Given the description of an element on the screen output the (x, y) to click on. 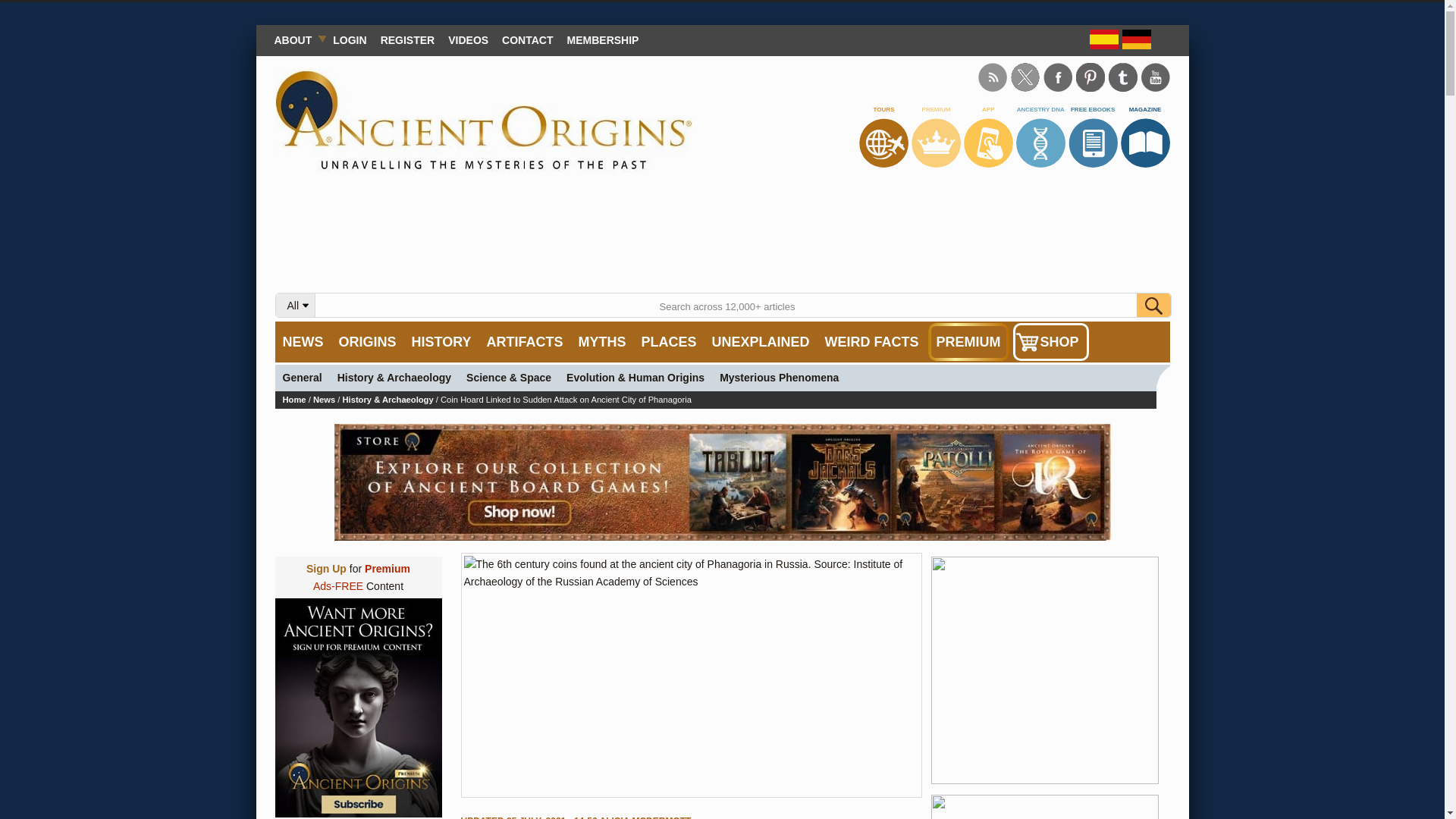
Our Mission (296, 40)
CONTACT (526, 40)
Become a registered user (408, 40)
LOGIN (349, 40)
Find (1152, 304)
REGISTER (408, 40)
Video Gallery (468, 40)
Login (349, 40)
ABOUT (296, 40)
VIDEOS (468, 40)
